Given the description of an element on the screen output the (x, y) to click on. 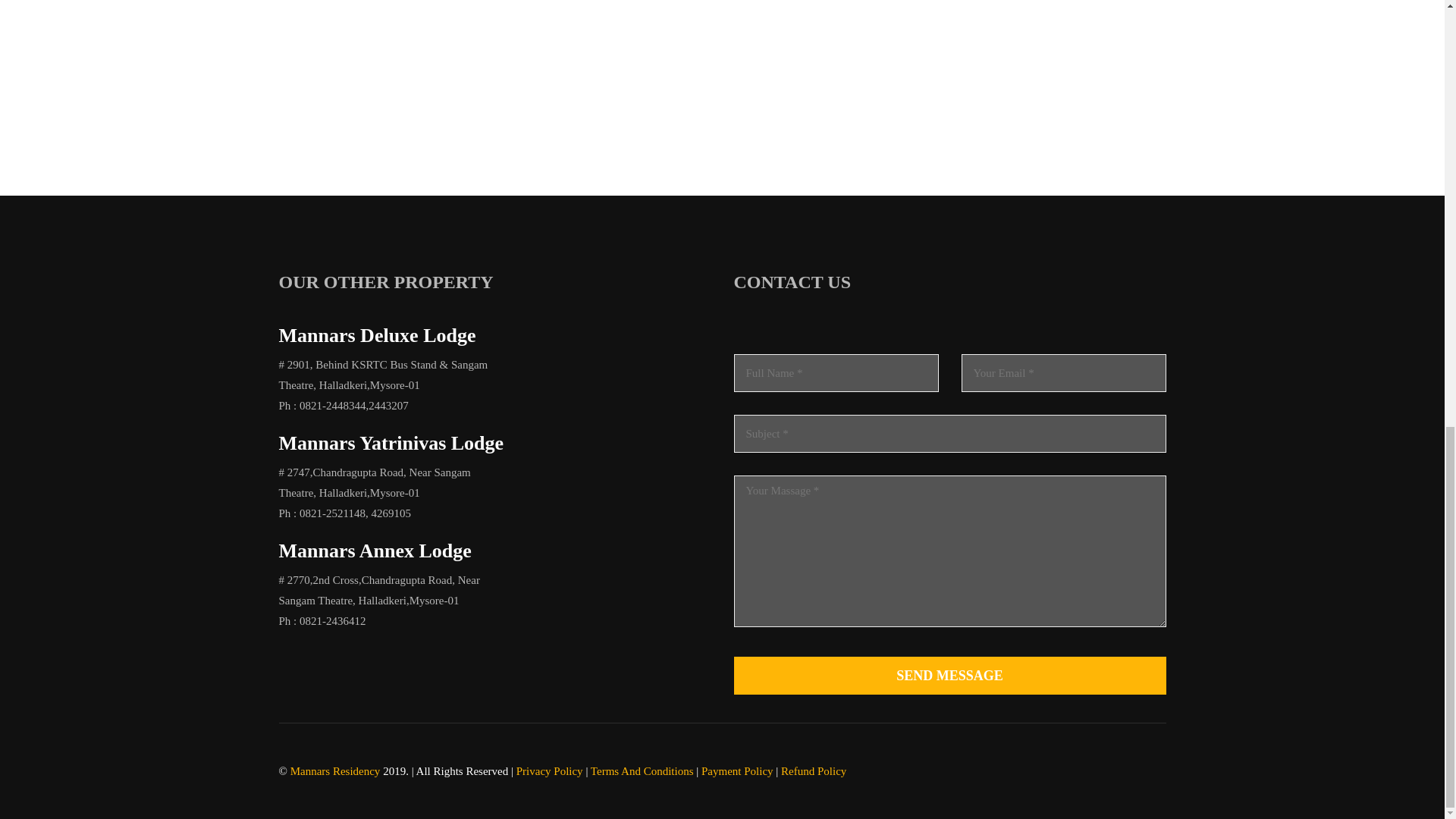
Refund Policy (812, 770)
Payment Policy (737, 770)
Mannars Yatrinivas Lodge (391, 443)
Privacy Policy (549, 770)
Mannars Annex Lodge (375, 550)
Send Message (949, 675)
Send Message (949, 675)
Mannars Residency (334, 770)
Terms And Conditions (642, 770)
Mannars Deluxe Lodge (377, 335)
